Given the description of an element on the screen output the (x, y) to click on. 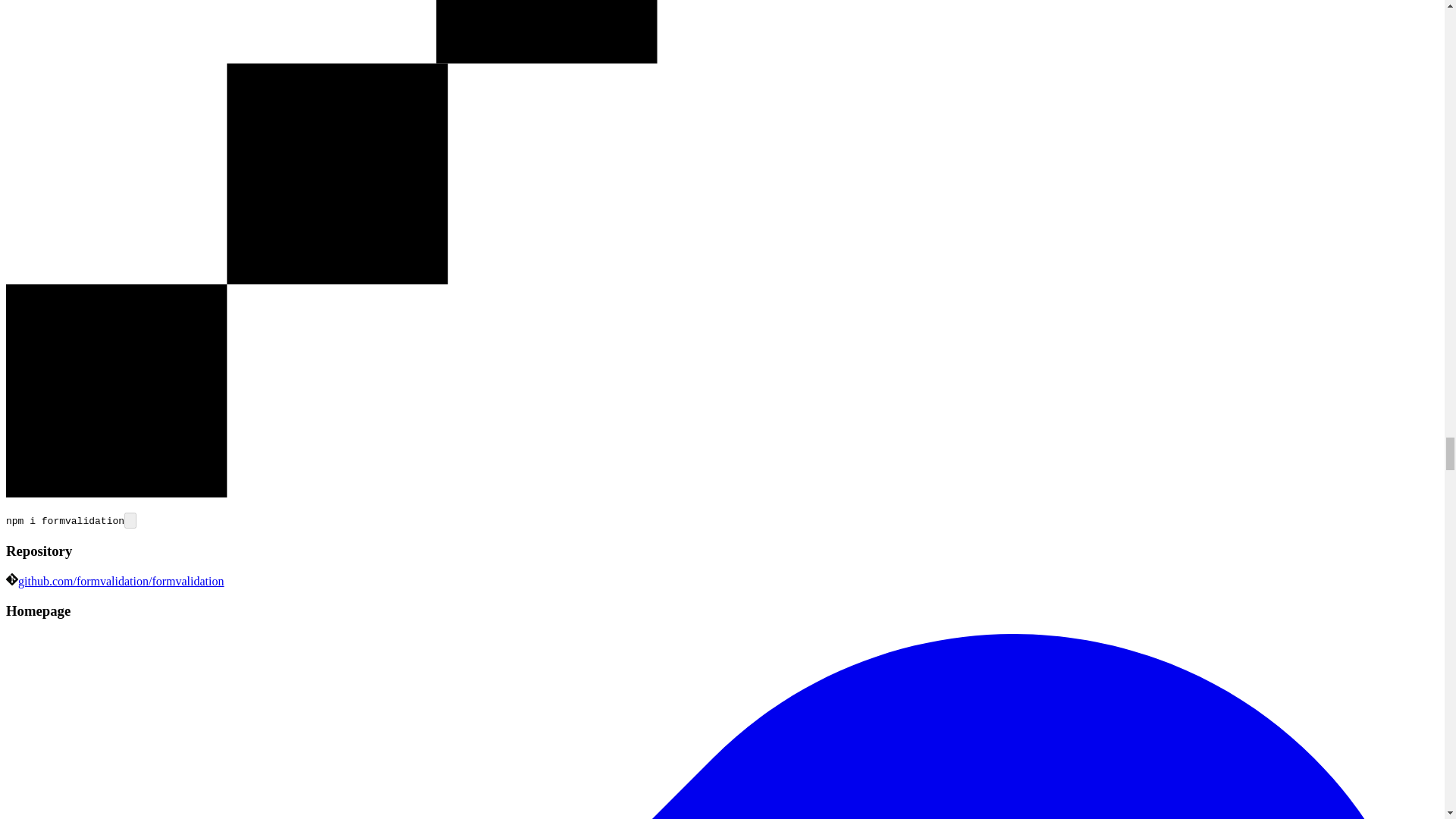
Git (11, 579)
